Given the description of an element on the screen output the (x, y) to click on. 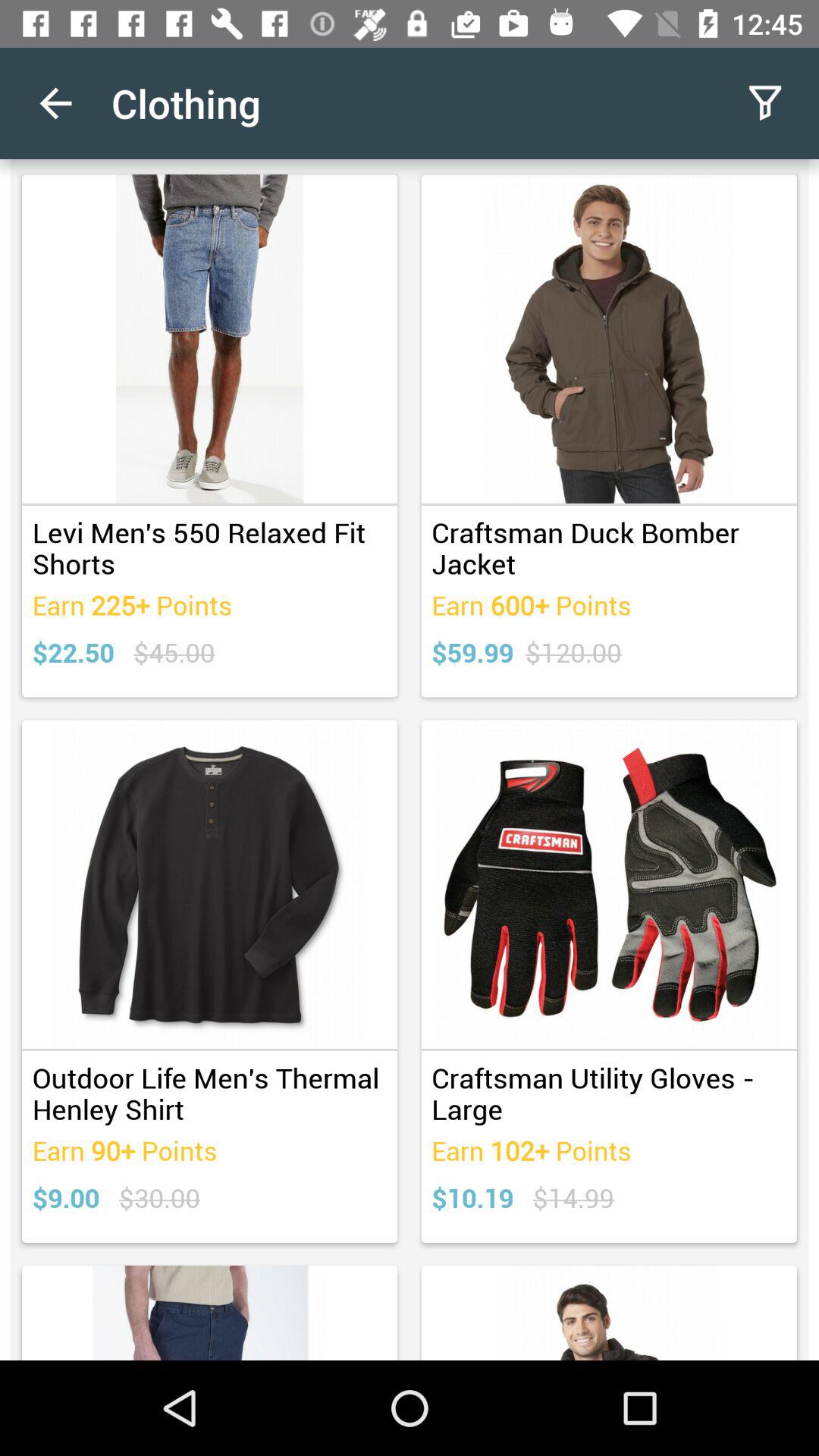
products page (409, 759)
